Given the description of an element on the screen output the (x, y) to click on. 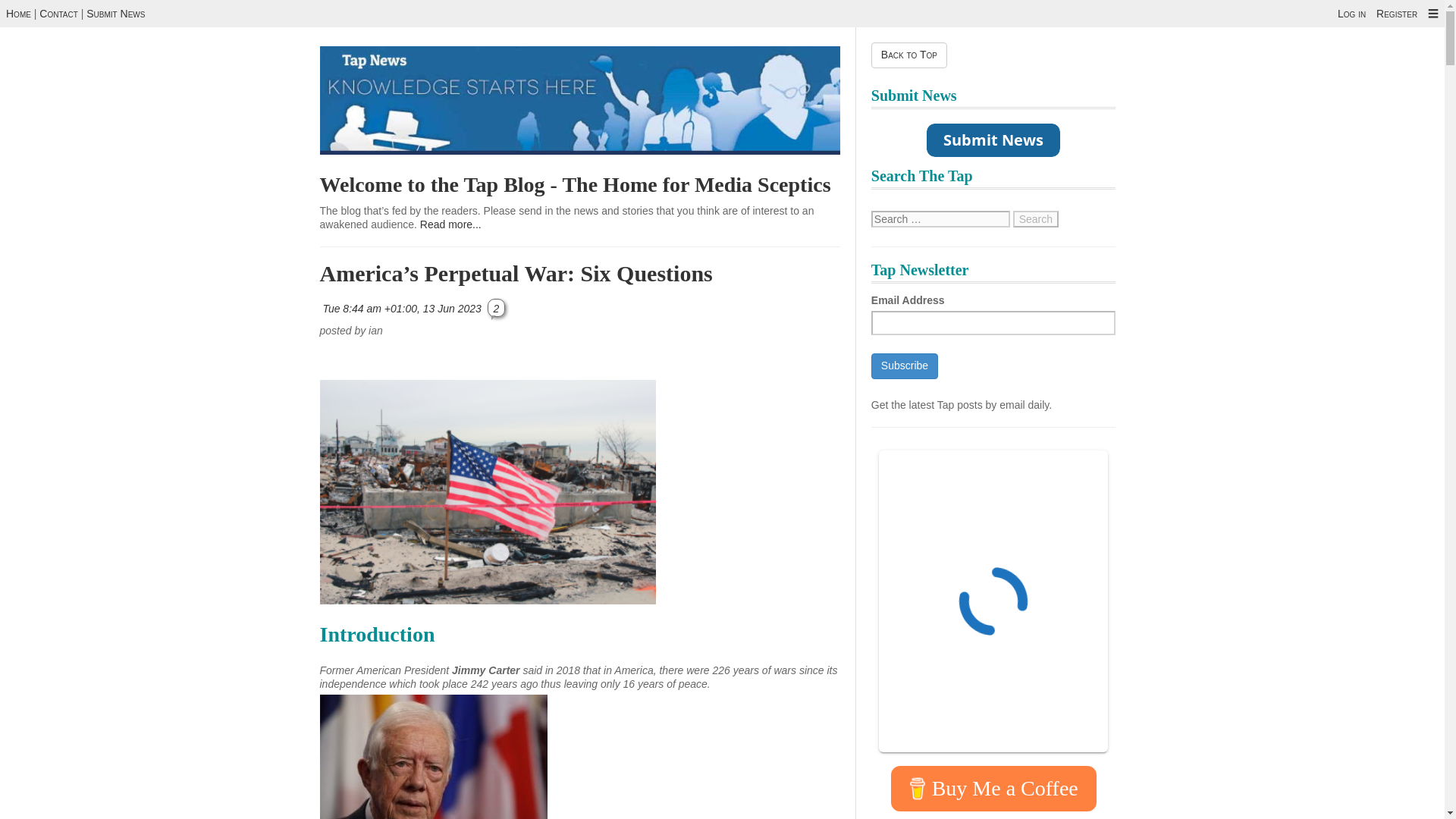
Register (1395, 13)
Read more... (450, 224)
Log in (1351, 13)
Search (1035, 218)
Back to Top (908, 54)
2 (496, 307)
Home (17, 13)
Back to Top (908, 54)
Contact Us (114, 13)
Permanent Link to Welcome to The Tap Blog (575, 184)
